Given the description of an element on the screen output the (x, y) to click on. 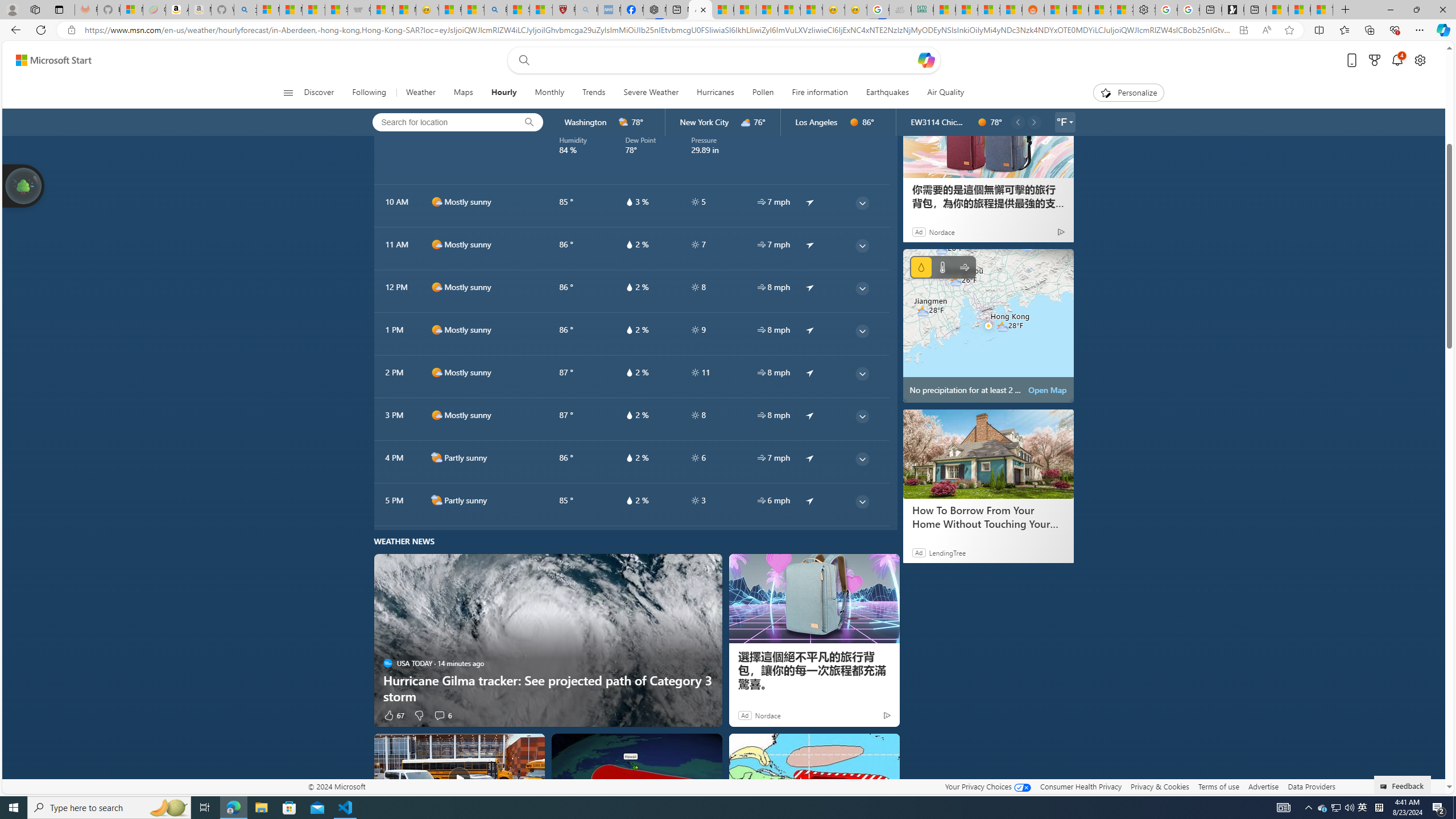
d2000 (436, 500)
View comments 6 Comment (439, 715)
